Given the description of an element on the screen output the (x, y) to click on. 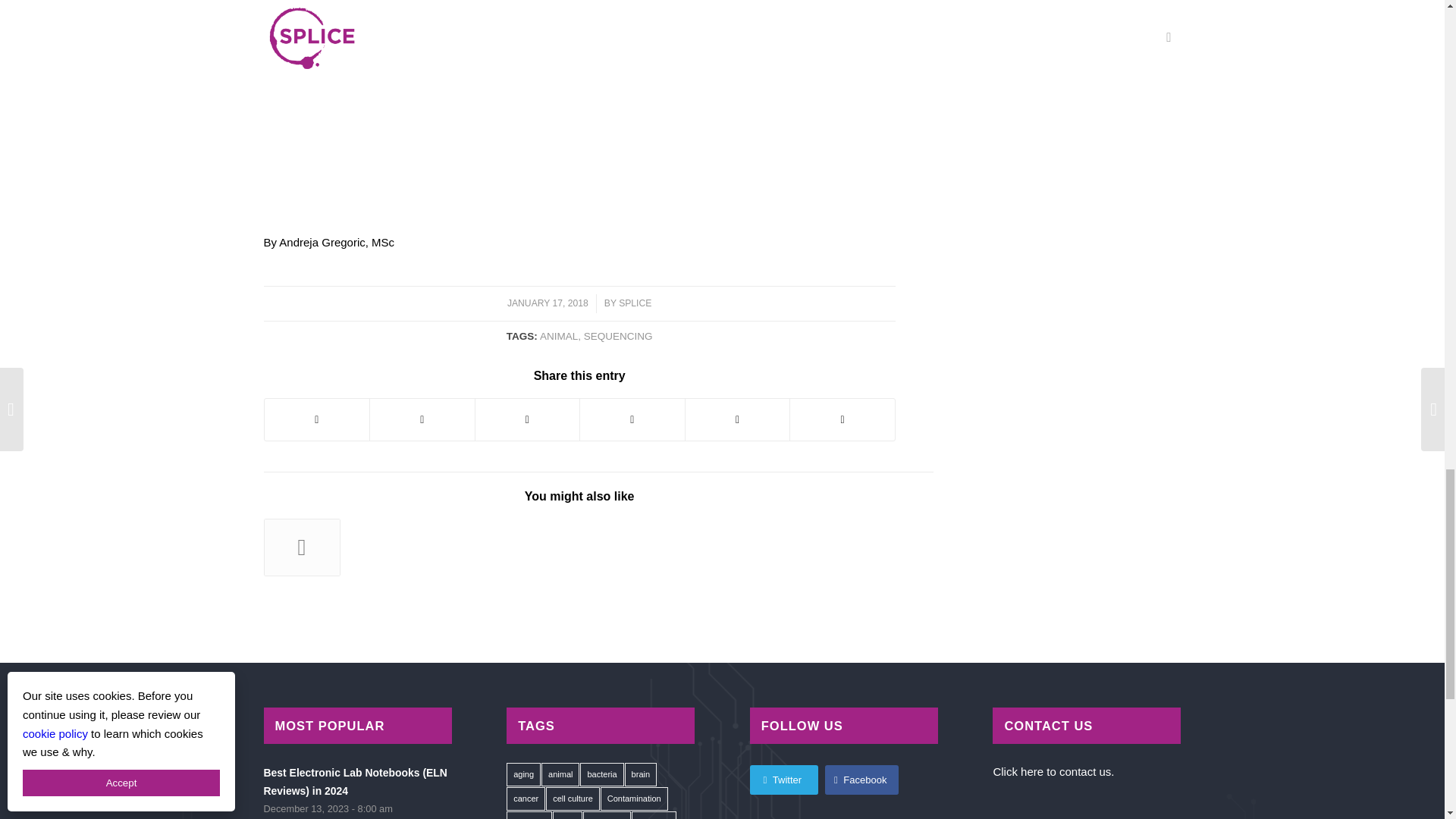
SEQUENCING (617, 336)
Can Parents Transmit Memories to Their Offspring? (380, 539)
Posts by Splice (634, 303)
Understanding Neuroblastoma with Fluorescent Zebrafish Genes (459, 542)
SPLICE (634, 303)
ANIMAL (559, 336)
